Given the description of an element on the screen output the (x, y) to click on. 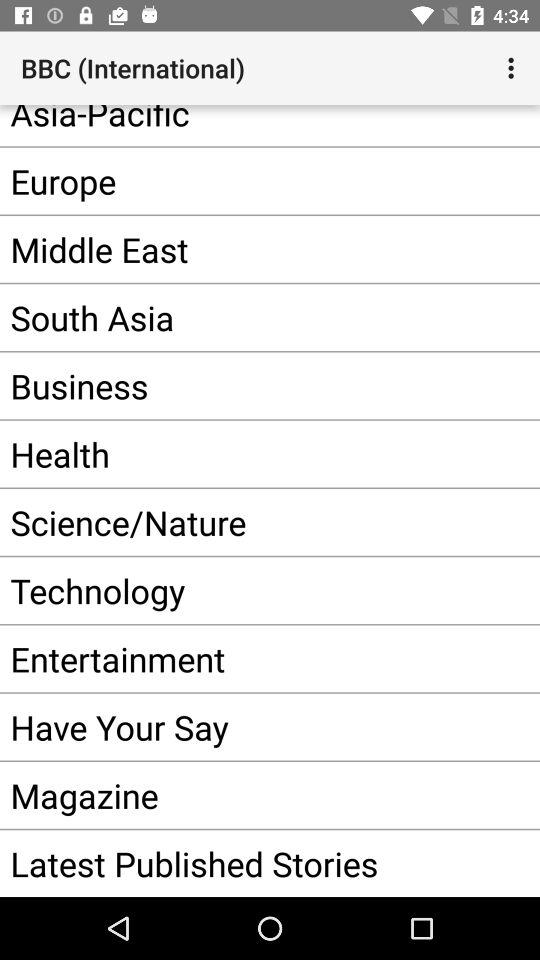
tap the technology (249, 590)
